Given the description of an element on the screen output the (x, y) to click on. 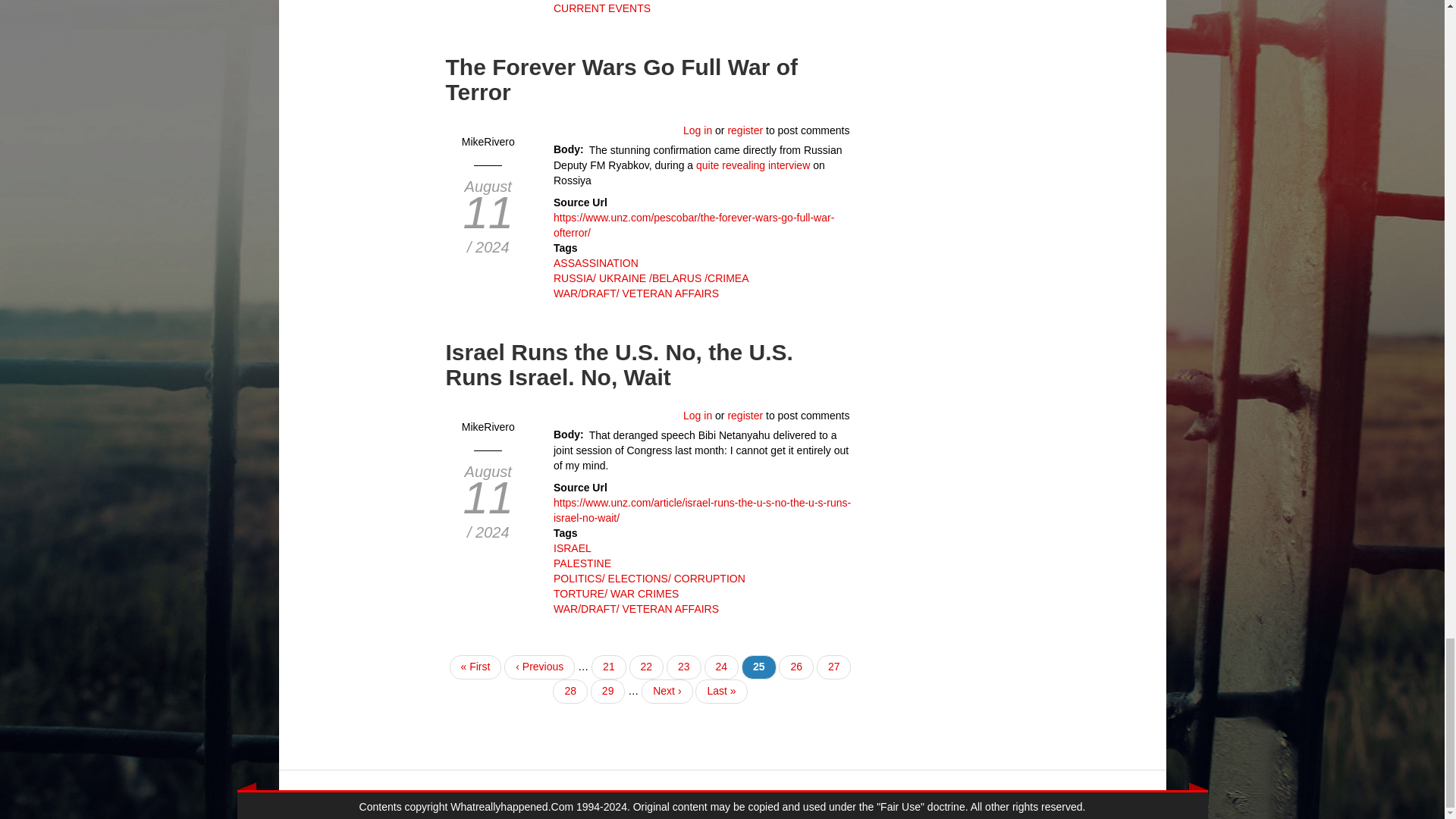
Go to page 29 (608, 691)
Go to page 24 (720, 667)
Go to page 27 (833, 667)
Go to last page (720, 691)
Go to page 21 (608, 667)
Go to next page (667, 691)
Go to page 22 (645, 667)
Go to previous page (539, 667)
Go to page 28 (570, 691)
Go to page 26 (795, 667)
